Given the description of an element on the screen output the (x, y) to click on. 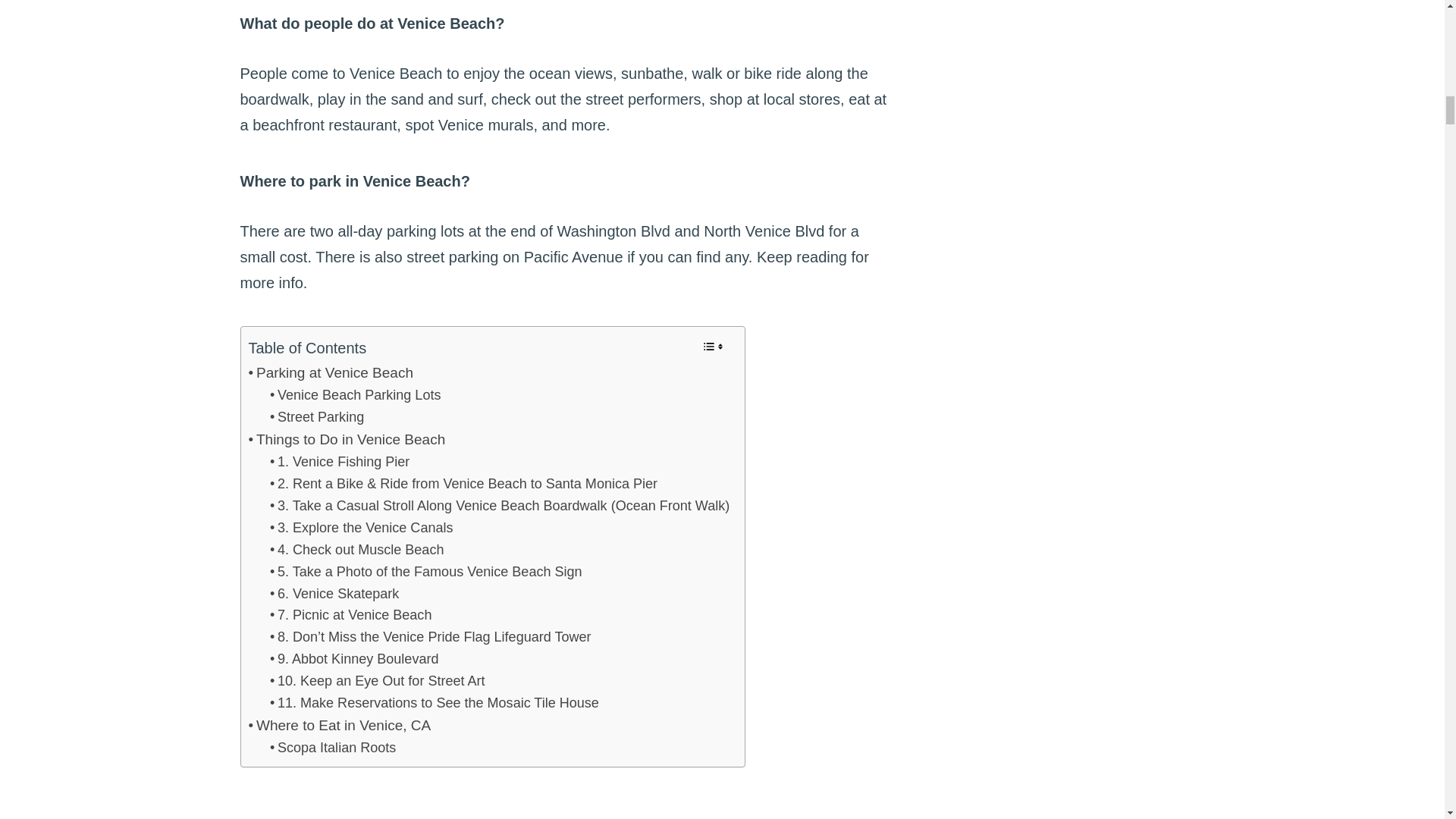
Venice Beach Parking Lots (355, 395)
3. Explore the Venice Canals (360, 527)
Street Parking (316, 417)
1. Venice Fishing Pier (339, 462)
7. Picnic at Venice Beach (349, 615)
10. Keep an Eye Out for Street Art (376, 681)
11. Make Reservations to See the Mosaic Tile House (433, 703)
5. Take a Photo of the Famous Venice Beach Sign (425, 572)
Parking at Venice Beach (330, 372)
Things to Do in Venice Beach (346, 439)
